Given the description of an element on the screen output the (x, y) to click on. 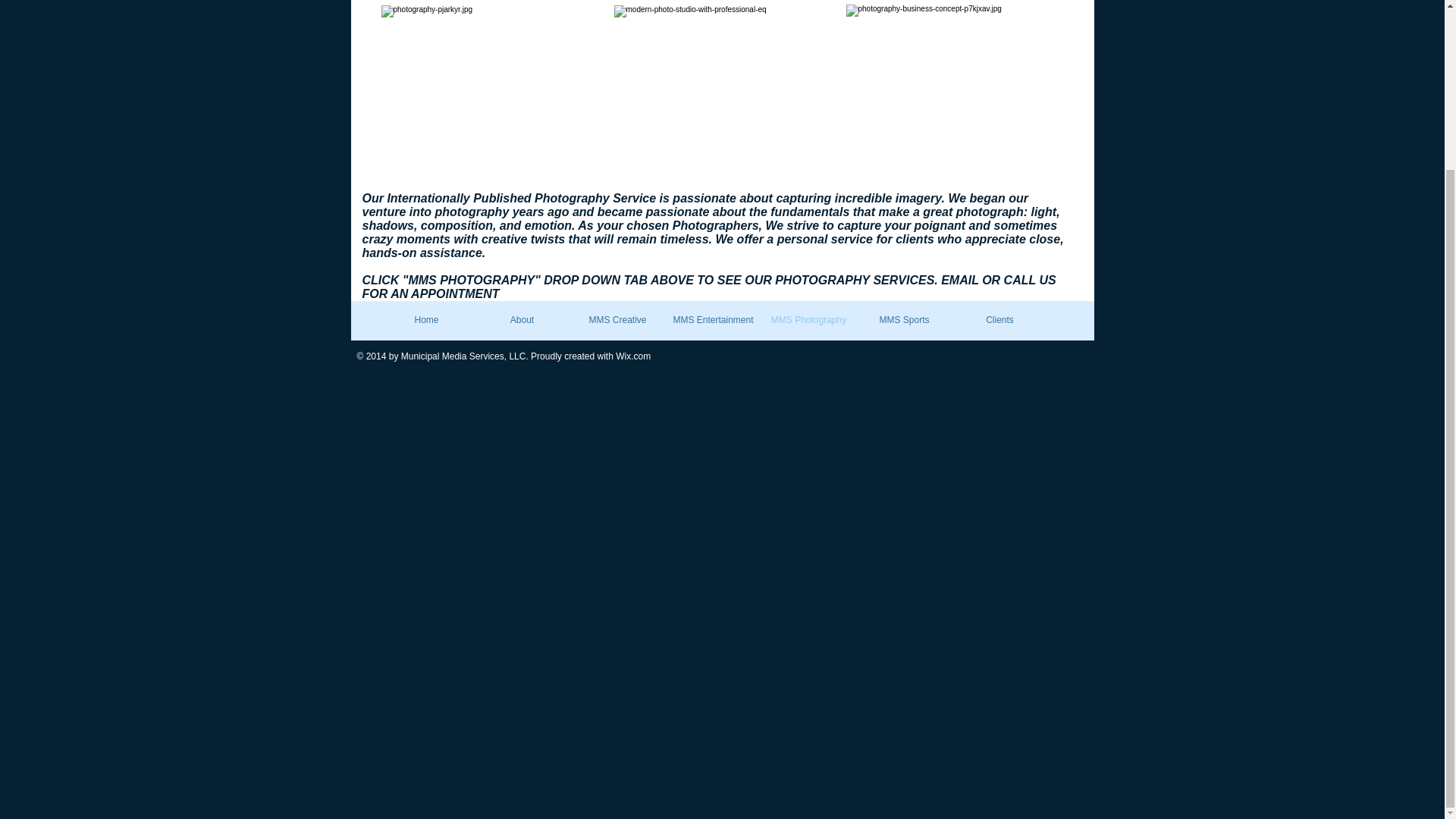
MMS Creative (617, 319)
MMS Photography (809, 319)
MMS Entertainment (713, 319)
About (522, 319)
Home (426, 319)
